Given the description of an element on the screen output the (x, y) to click on. 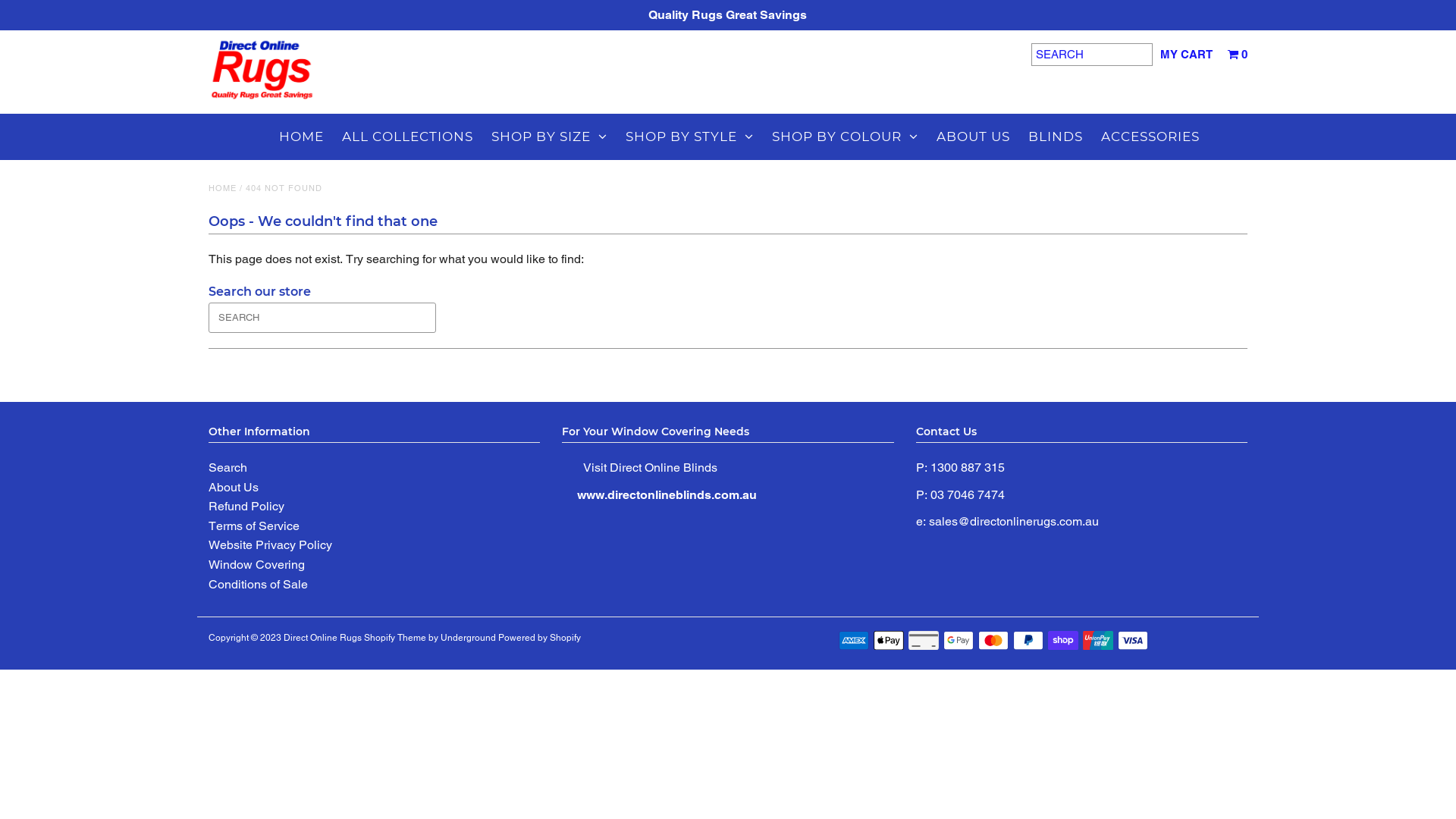
HOME Element type: text (222, 187)
Refund Policy Element type: text (246, 505)
MY CART   0 Element type: text (1203, 54)
Website Privacy Policy Element type: text (270, 544)
SHOP BY SIZE Element type: text (549, 136)
HOME Element type: text (301, 136)
BLINDS Element type: text (1055, 136)
Search Element type: text (227, 467)
SHOP BY COLOUR Element type: text (844, 136)
Direct Online Rugs Element type: text (322, 637)
ALL COLLECTIONS Element type: text (407, 136)
Window Covering Element type: text (256, 564)
Shopify Theme Element type: text (395, 637)
SHOP BY STYLE Element type: text (689, 136)
Terms of Service Element type: text (253, 525)
Powered by Shopify Element type: text (539, 637)
www.directonlineblinds.com.au  Element type: text (668, 494)
About Us Element type: text (233, 487)
Quality Rugs Great Savings Element type: text (727, 14)
ACCESSORIES Element type: text (1150, 136)
ABOUT US Element type: text (972, 136)
Conditions of Sale Element type: text (257, 584)
